Given the description of an element on the screen output the (x, y) to click on. 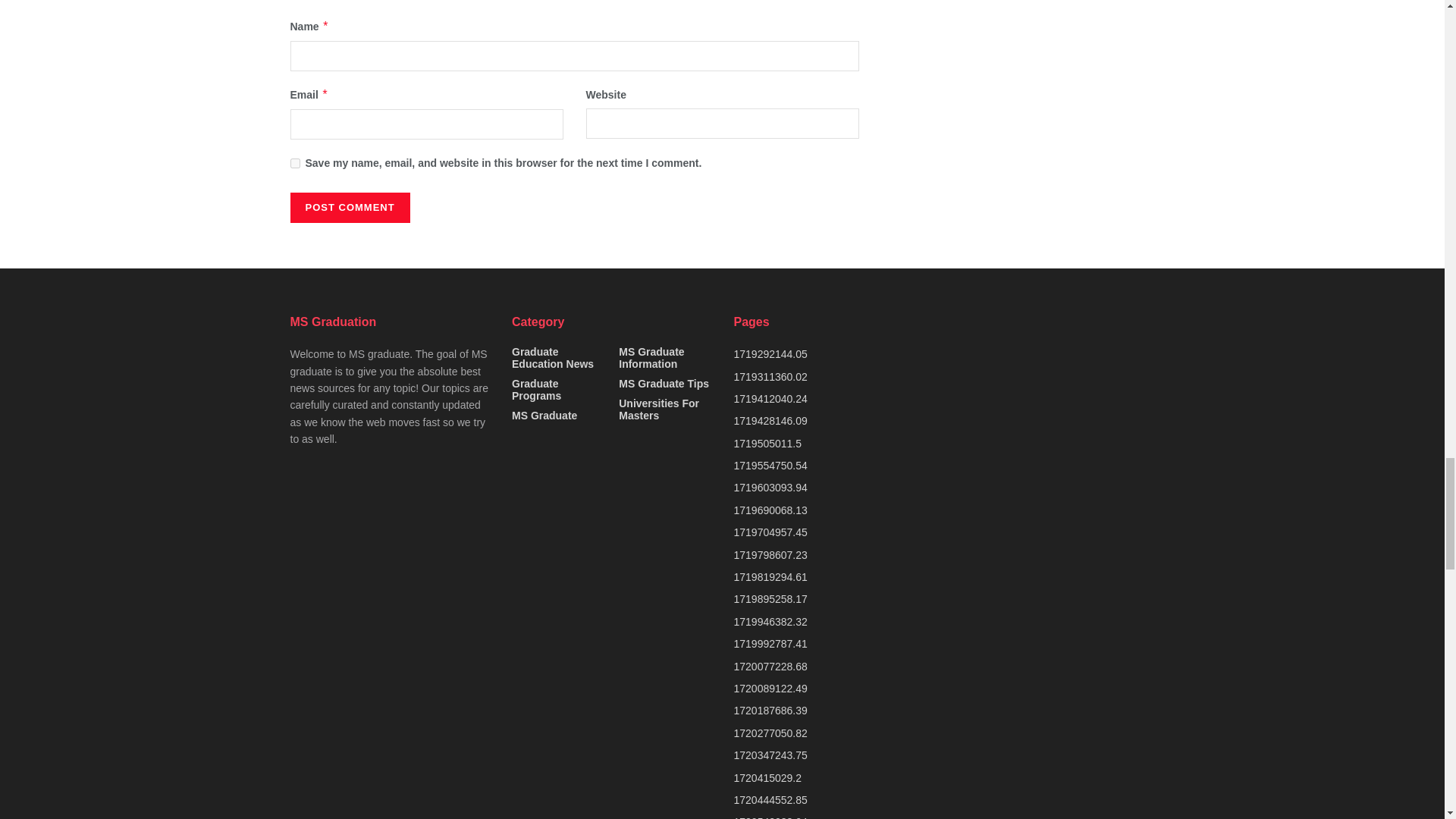
yes (294, 163)
Post Comment (349, 207)
